Given the description of an element on the screen output the (x, y) to click on. 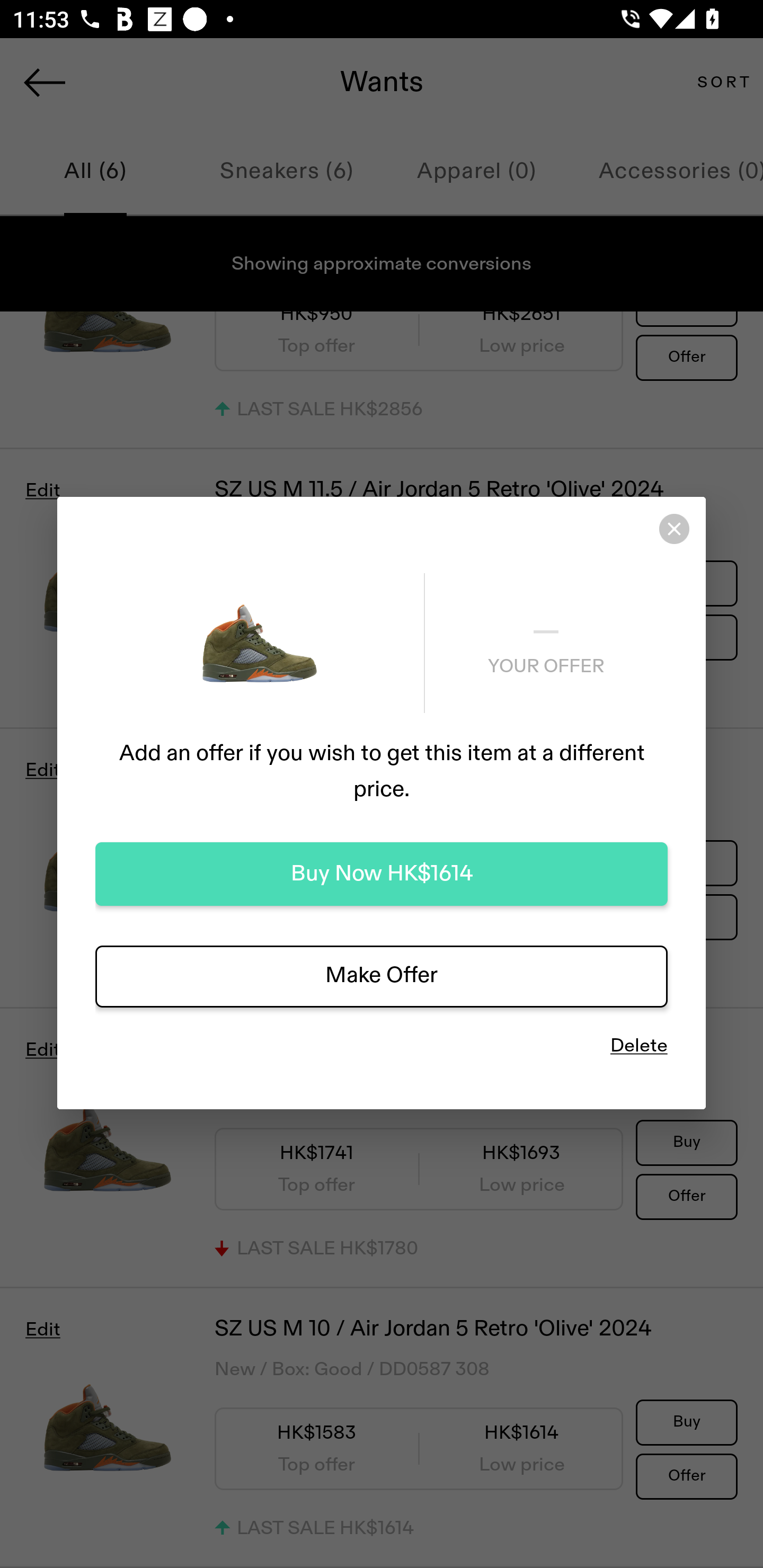
Buy Now HK$1614 (381, 874)
Make Offer (381, 975)
Delete (638, 1045)
